Given the description of an element on the screen output the (x, y) to click on. 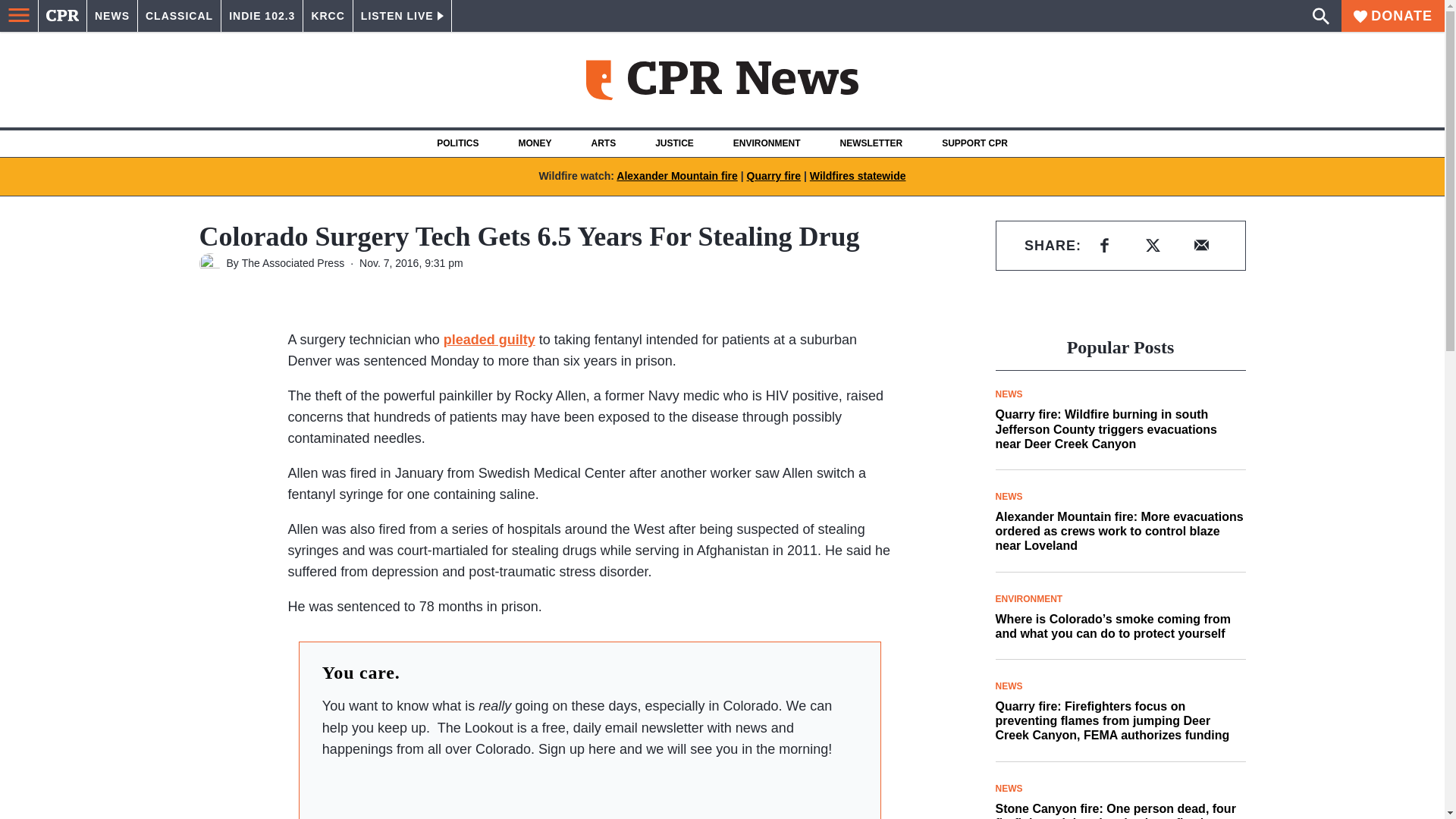
CLASSICAL (179, 15)
KRCC (327, 15)
NEWS (111, 15)
newsArticleSignup (589, 789)
INDIE 102.3 (261, 15)
LISTEN LIVE (402, 15)
